Given the description of an element on the screen output the (x, y) to click on. 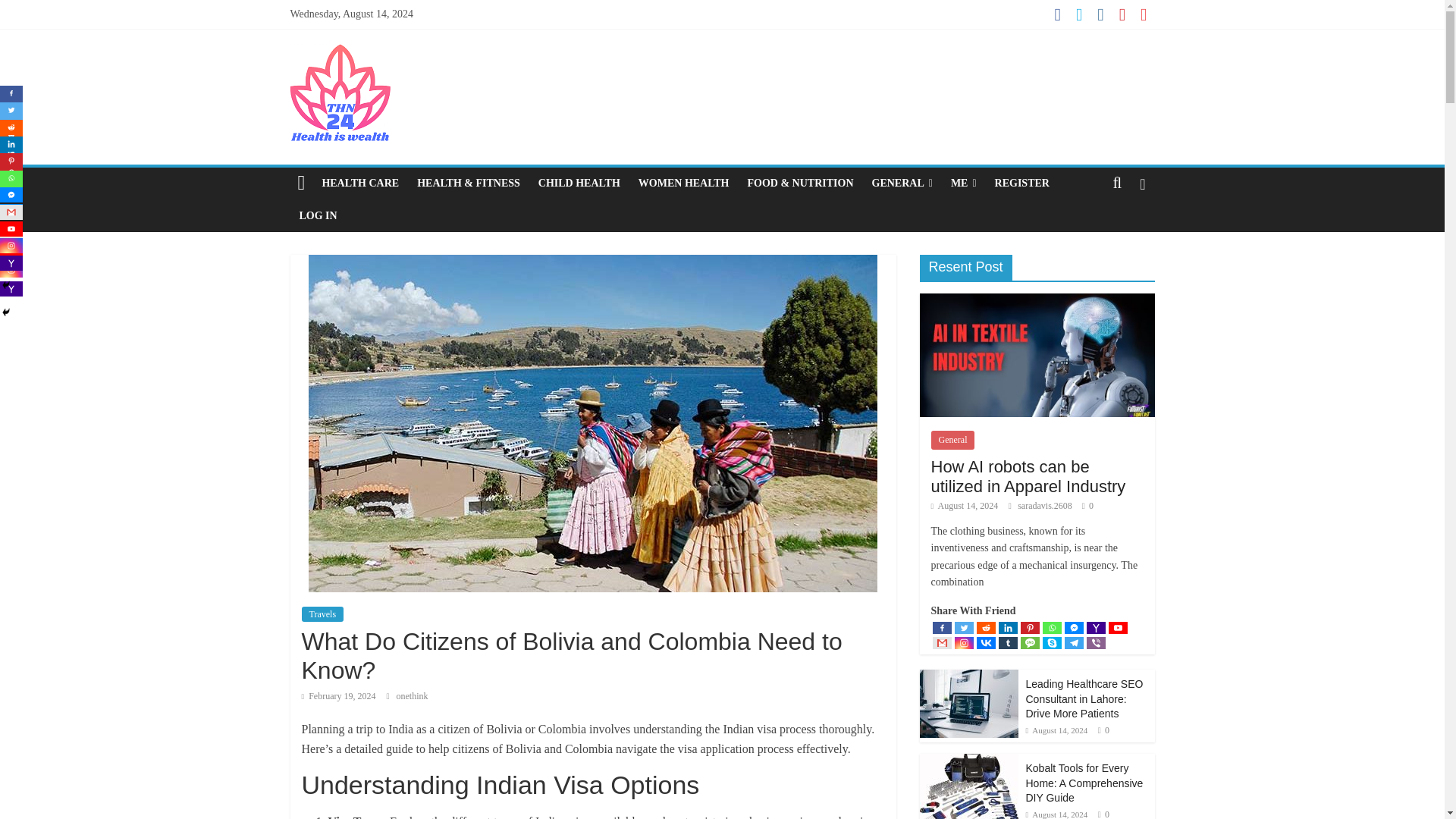
onethink (412, 696)
WOMEN HEALTH (683, 183)
February 19, 2024 (338, 696)
3:03 pm (338, 696)
HEALTH CARE (360, 183)
LOG IN (317, 215)
GENERAL (902, 183)
onethink (412, 696)
REGISTER (1021, 183)
Travels (322, 613)
